Given the description of an element on the screen output the (x, y) to click on. 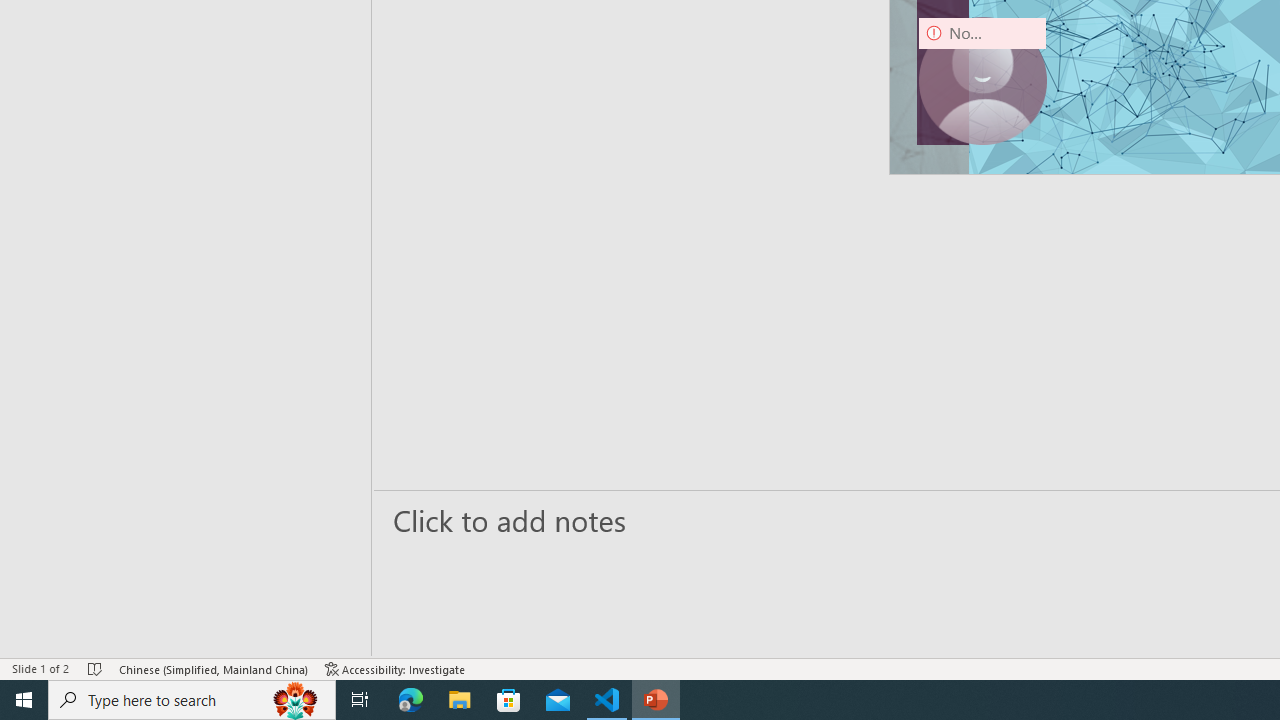
Camera 9, No camera detected. (982, 80)
